Given the description of an element on the screen output the (x, y) to click on. 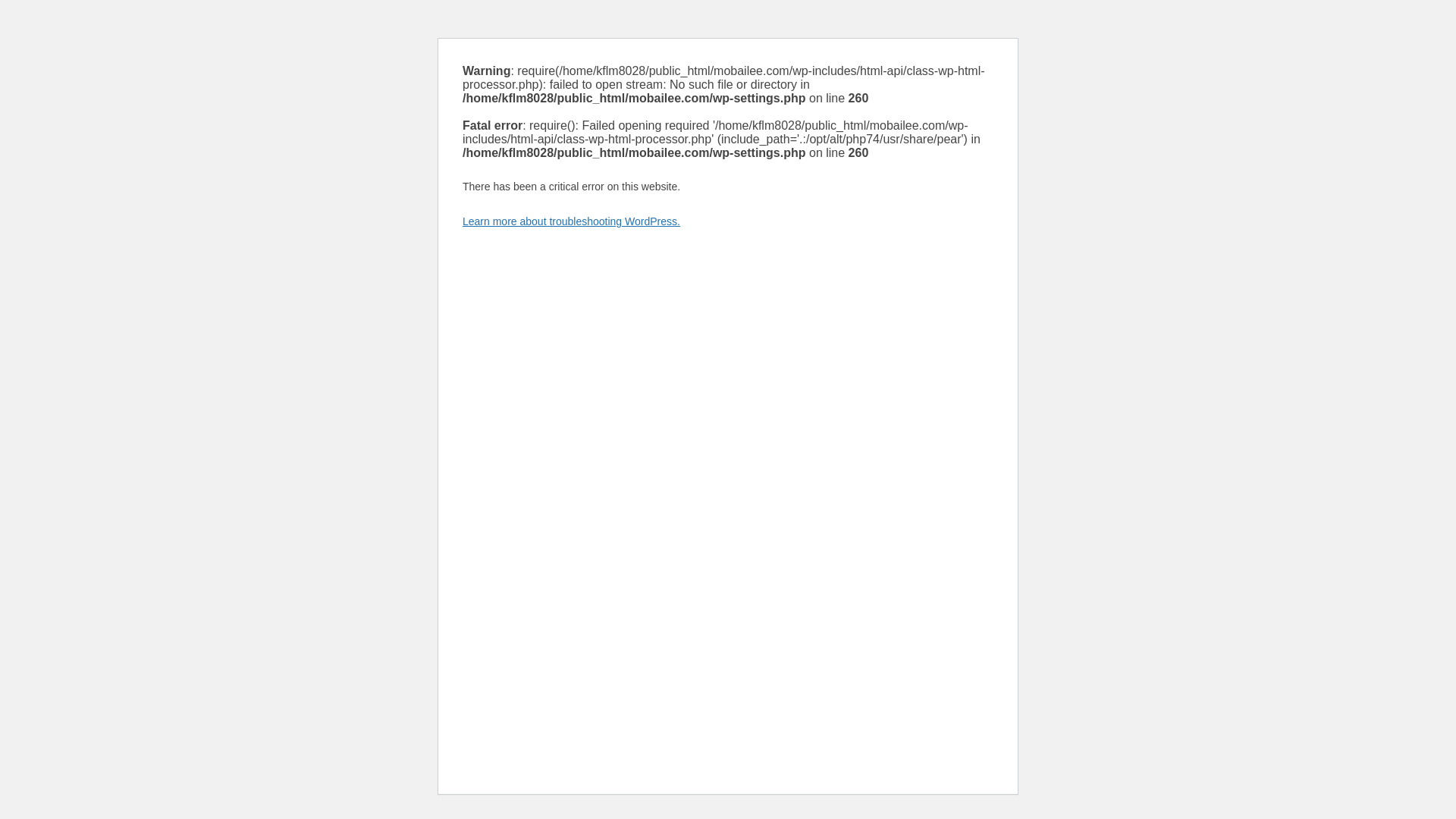
Learn more about troubleshooting WordPress. (571, 221)
